Given the description of an element on the screen output the (x, y) to click on. 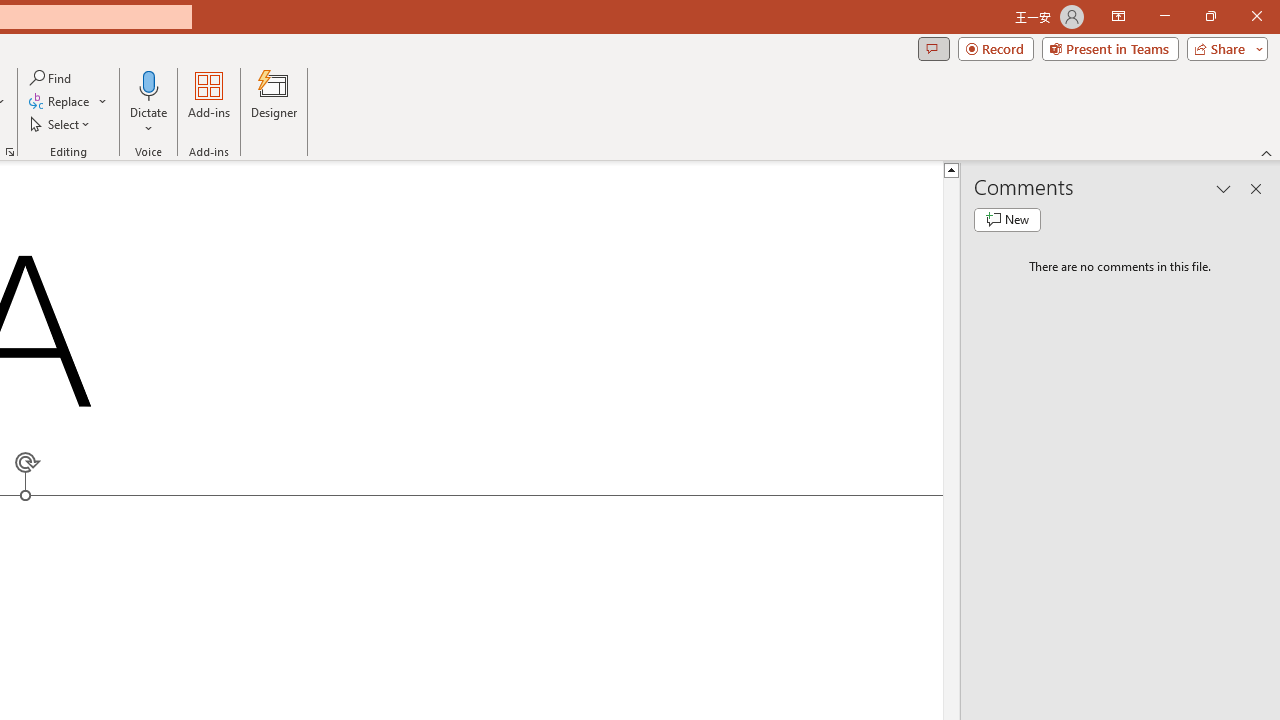
New comment (1007, 219)
